Given the description of an element on the screen output the (x, y) to click on. 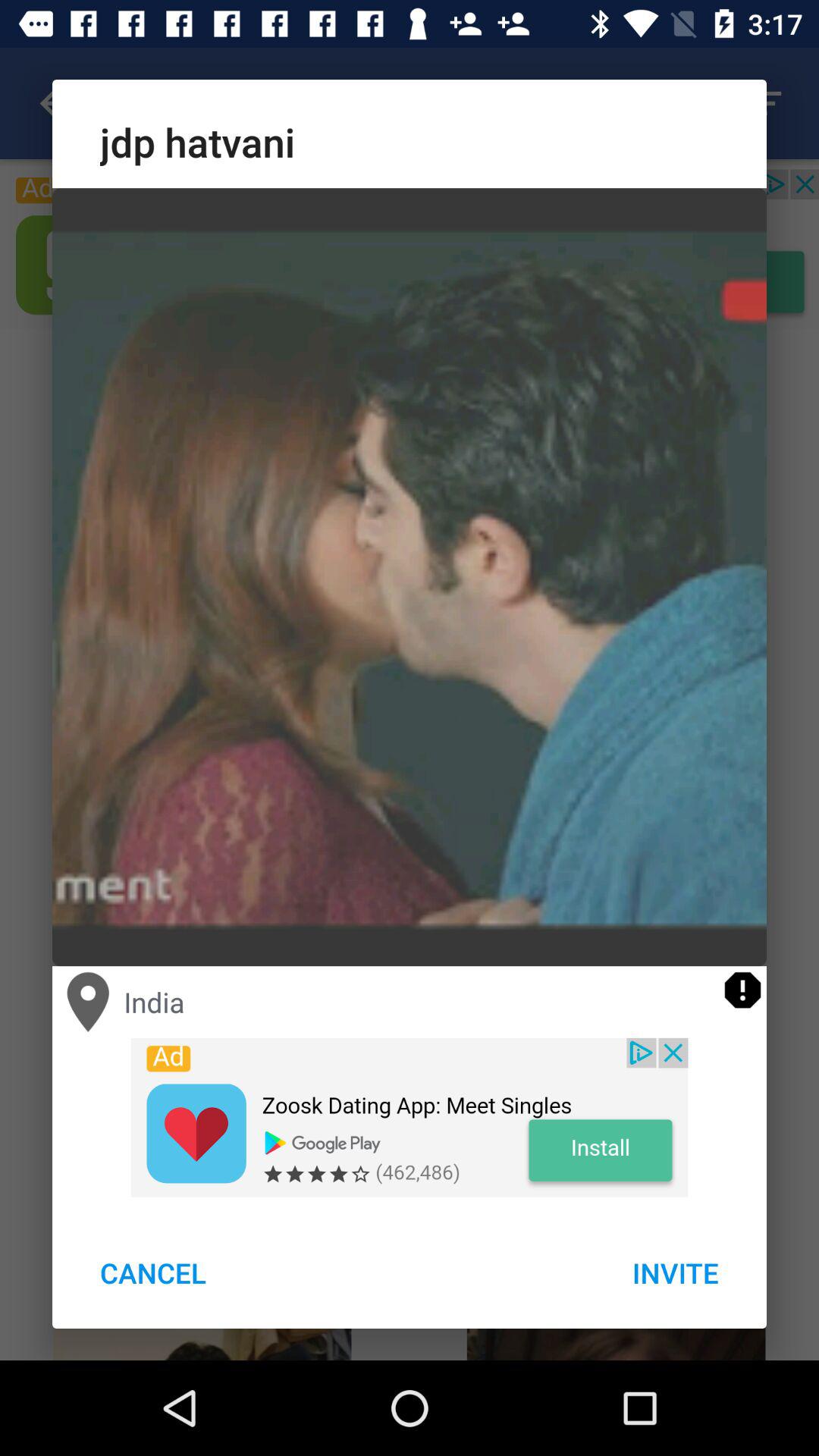
important information (742, 990)
